Given the description of an element on the screen output the (x, y) to click on. 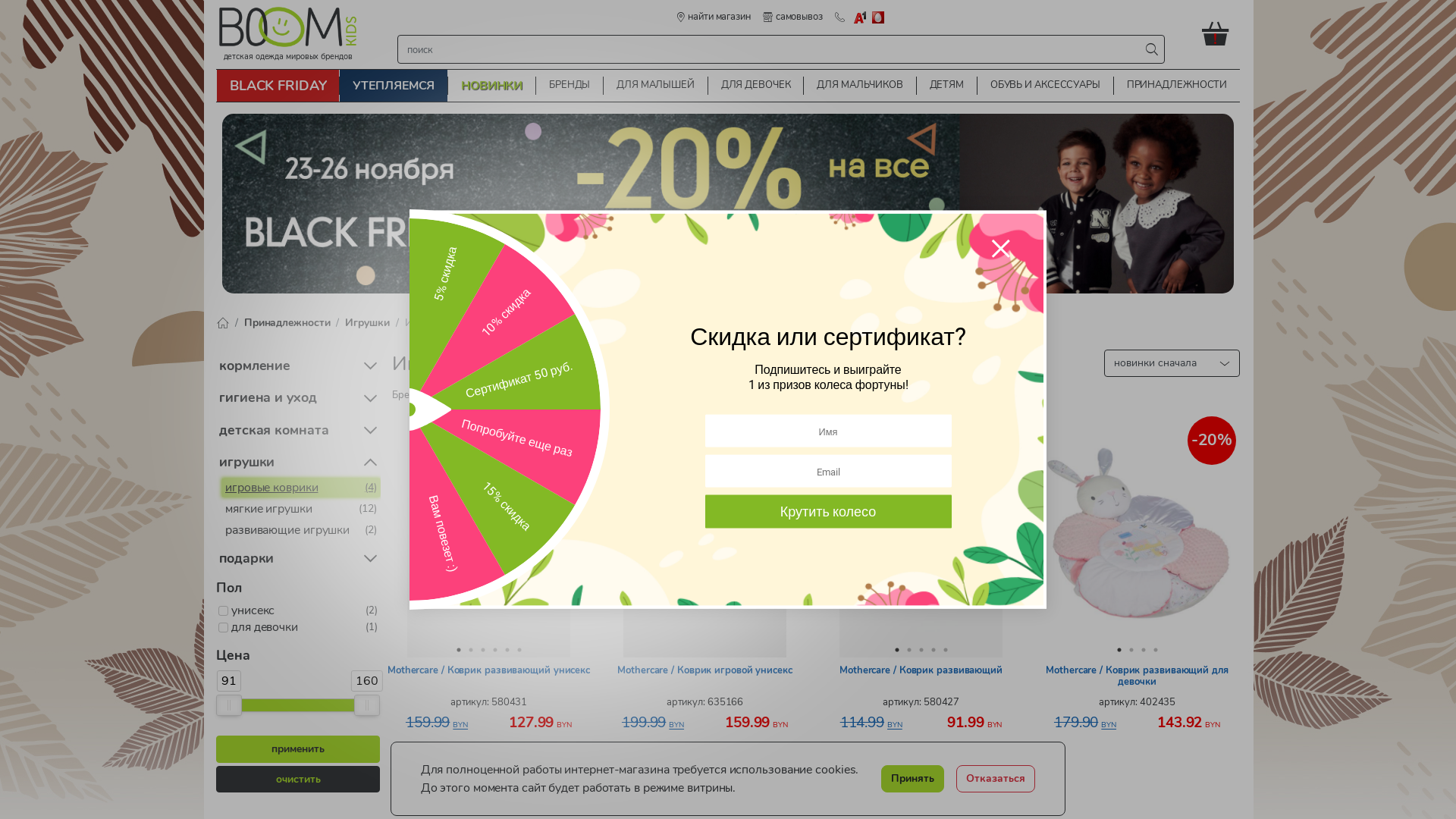
4 Element type: text (932, 649)
2 Element type: text (470, 649)
5 Element type: text (506, 649)
1 Element type: text (457, 649)
2 Element type: text (908, 649)
2 Element type: text (1131, 649)
4 Element type: text (1155, 649)
3 Element type: text (1143, 649)
3 Element type: text (482, 649)
5 Element type: text (944, 649)
1 Element type: text (896, 649)
Mothercare Element type: text (458, 394)
4 Element type: text (494, 649)
1 Element type: text (1119, 649)
3 Element type: text (920, 649)
! Element type: text (1220, 33)
BLACK FRIDAY Element type: text (277, 85)
6 Element type: text (518, 649)
